Given the description of an element on the screen output the (x, y) to click on. 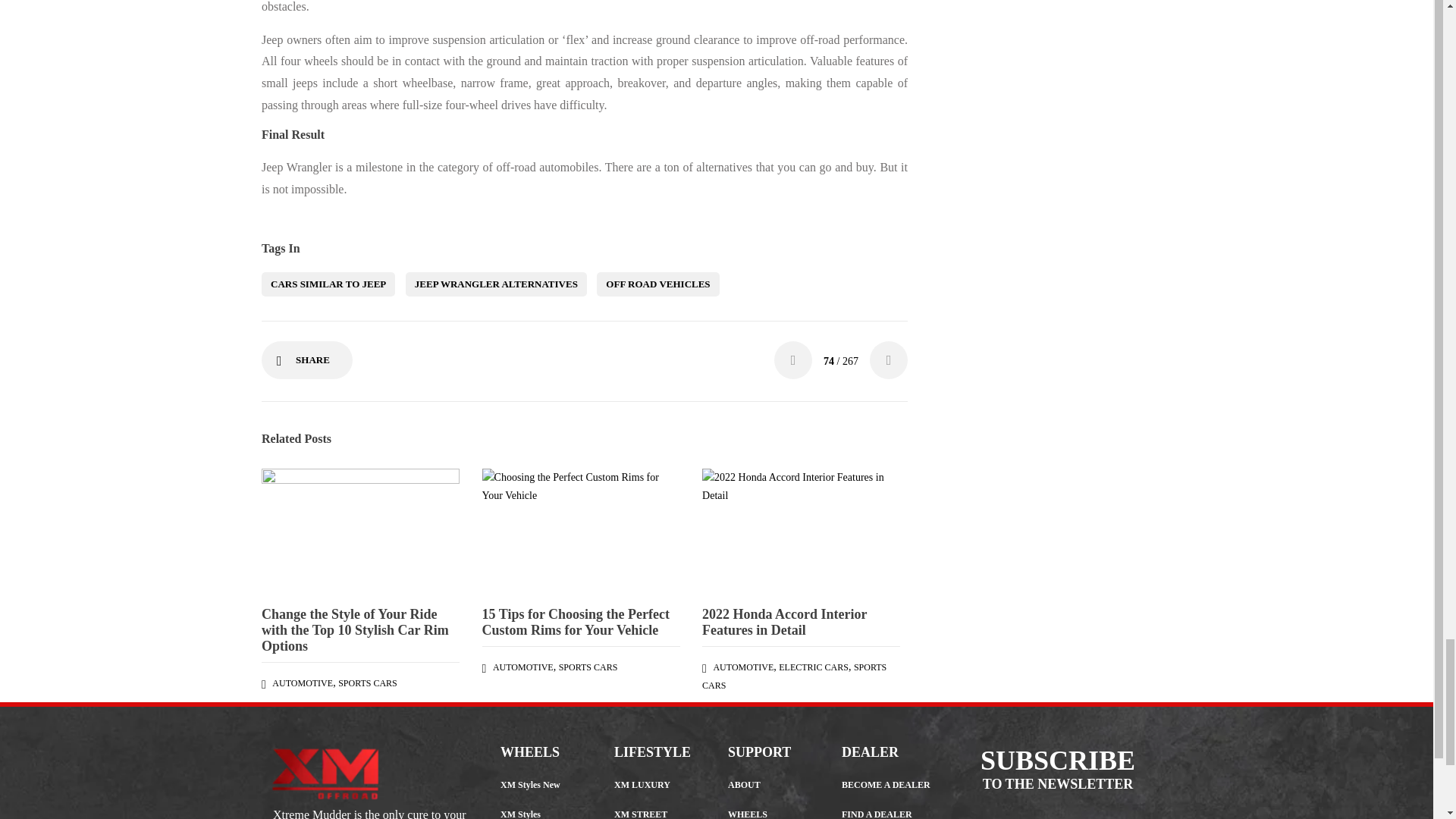
JEEP WRANGLER ALTERNATIVES (496, 283)
SPORTS CARS (588, 666)
OFF ROAD VEHICLES (657, 283)
CARS SIMILAR TO JEEP (328, 283)
SPORTS CARS (367, 683)
AUTOMOTIVE (523, 666)
AUTOMOTIVE (302, 683)
